Given the description of an element on the screen output the (x, y) to click on. 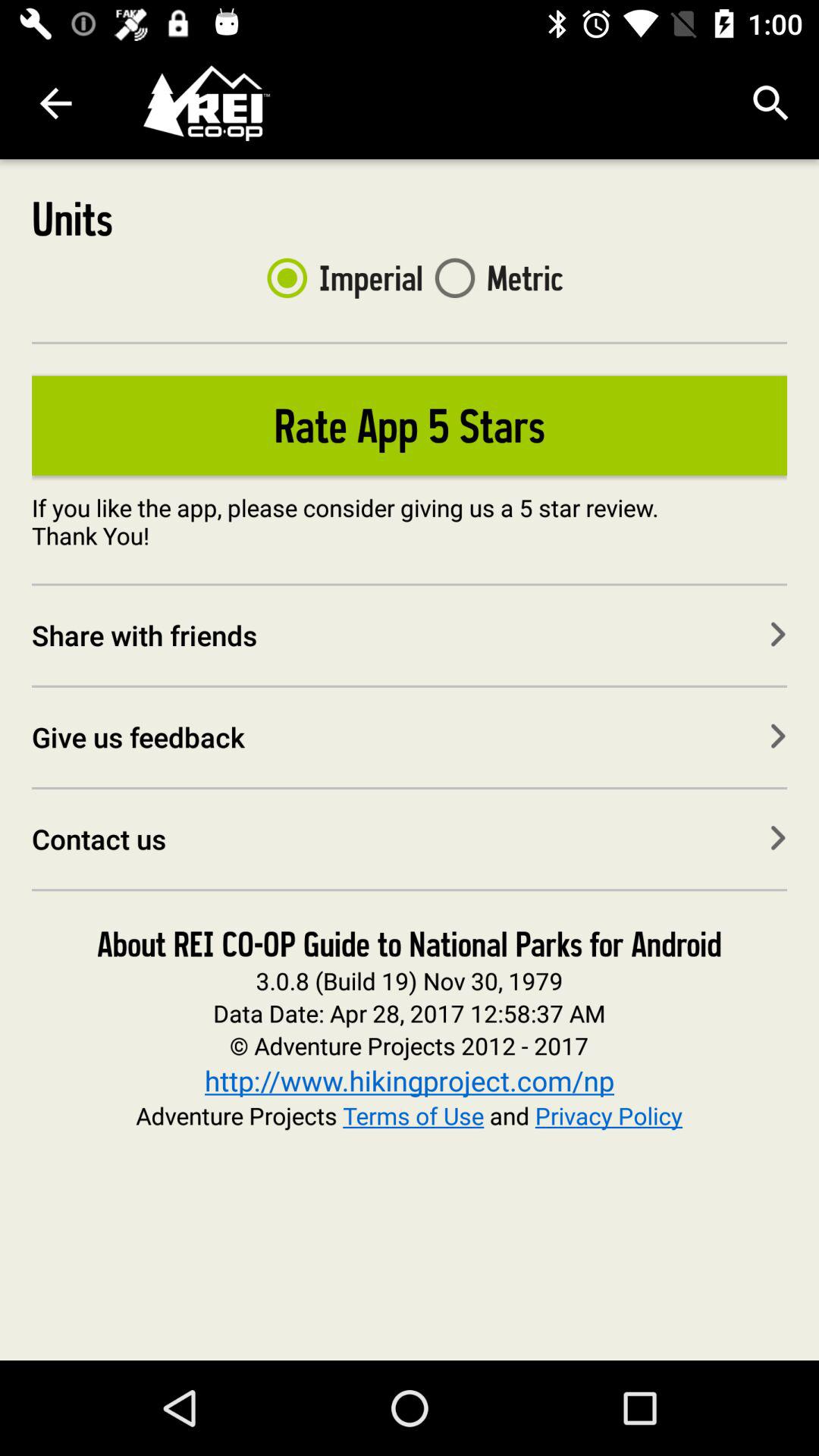
choose item below the adventure projects 2012 icon (409, 1080)
